Given the description of an element on the screen output the (x, y) to click on. 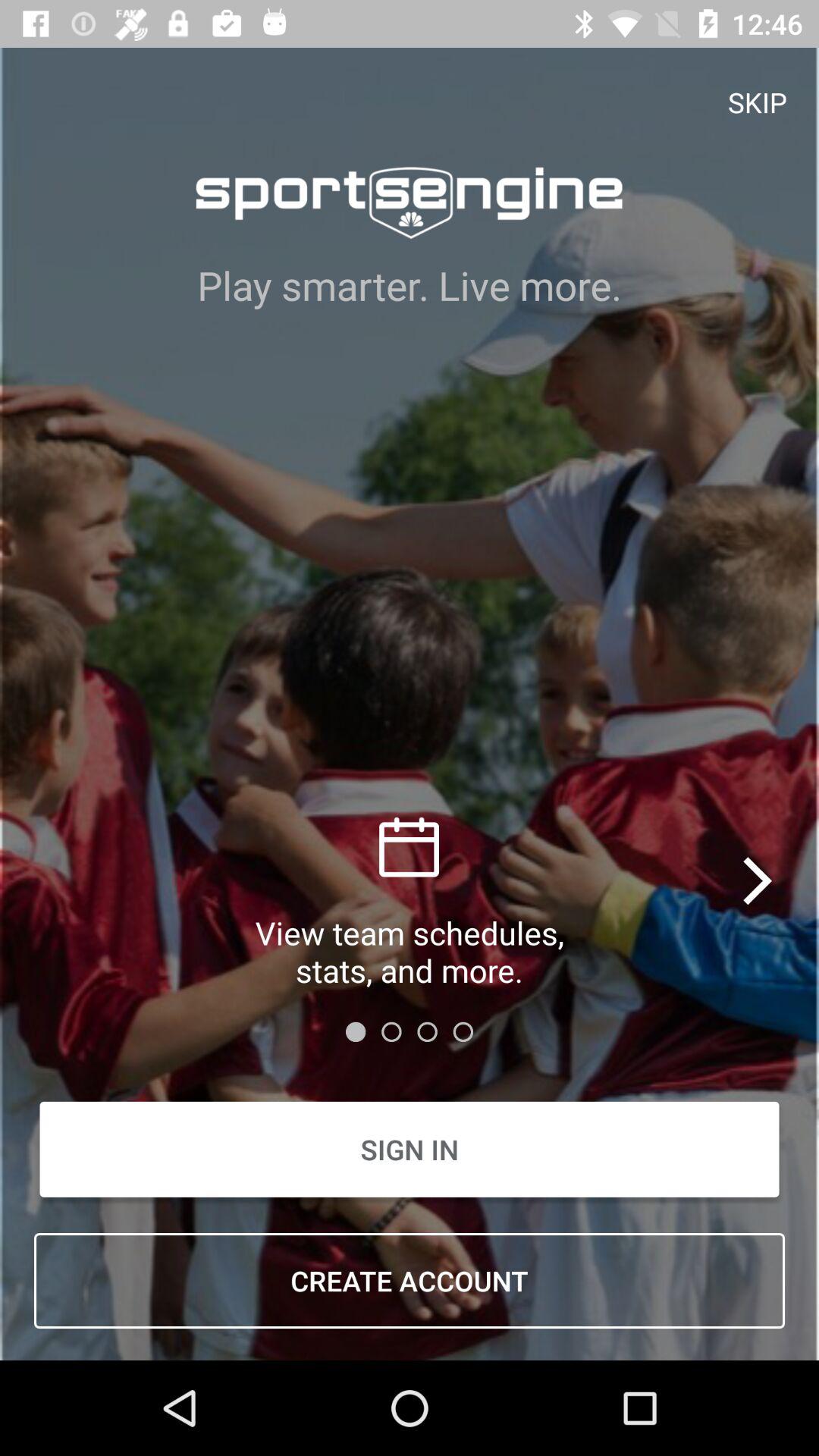
open the icon above sign in icon (759, 880)
